Given the description of an element on the screen output the (x, y) to click on. 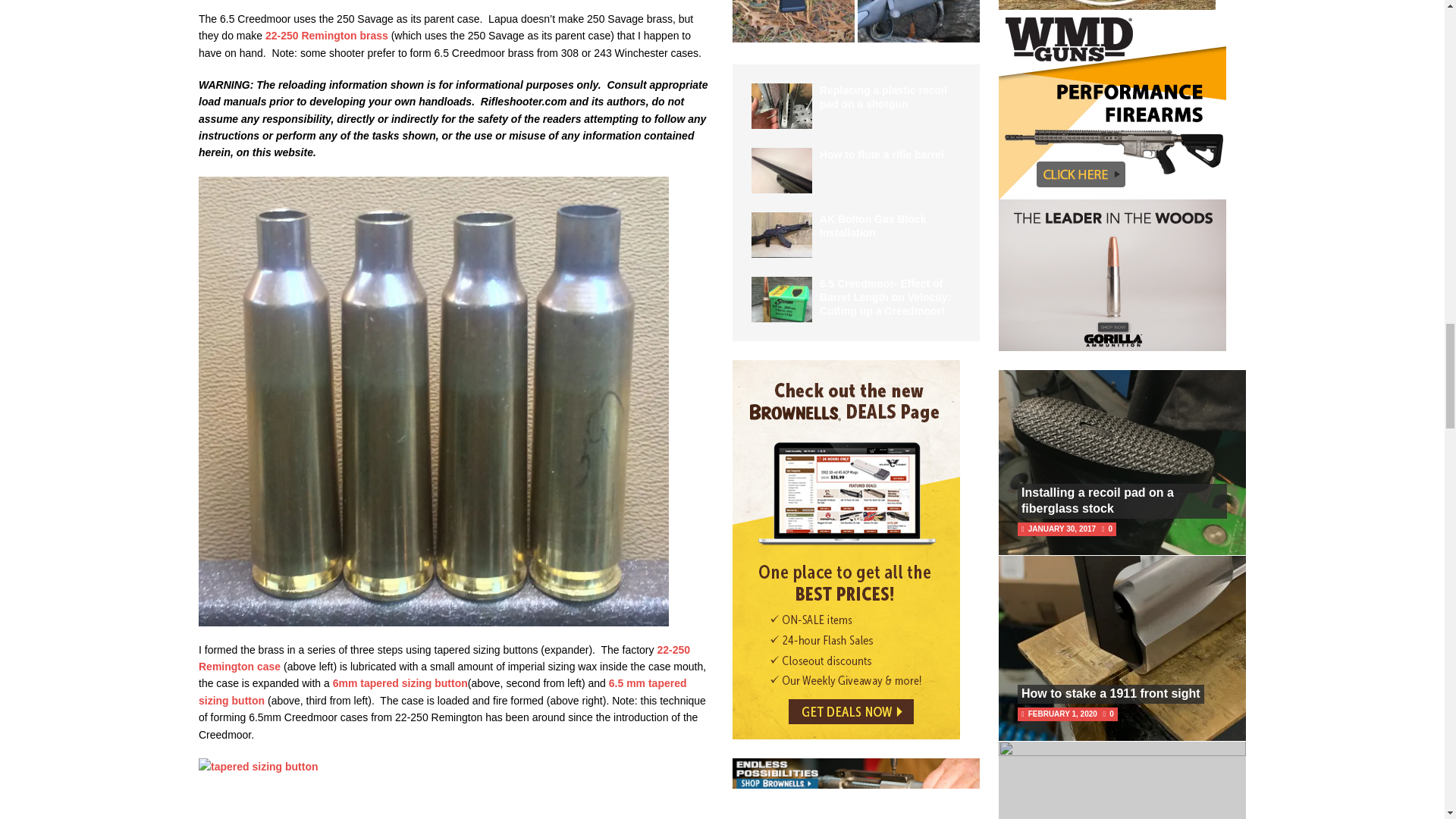
6.5 mm tapered sizing button (442, 691)
22-250 Remington brass (326, 35)
6mm tapered sizing button (400, 683)
22-250 Remington case (444, 657)
